Given the description of an element on the screen output the (x, y) to click on. 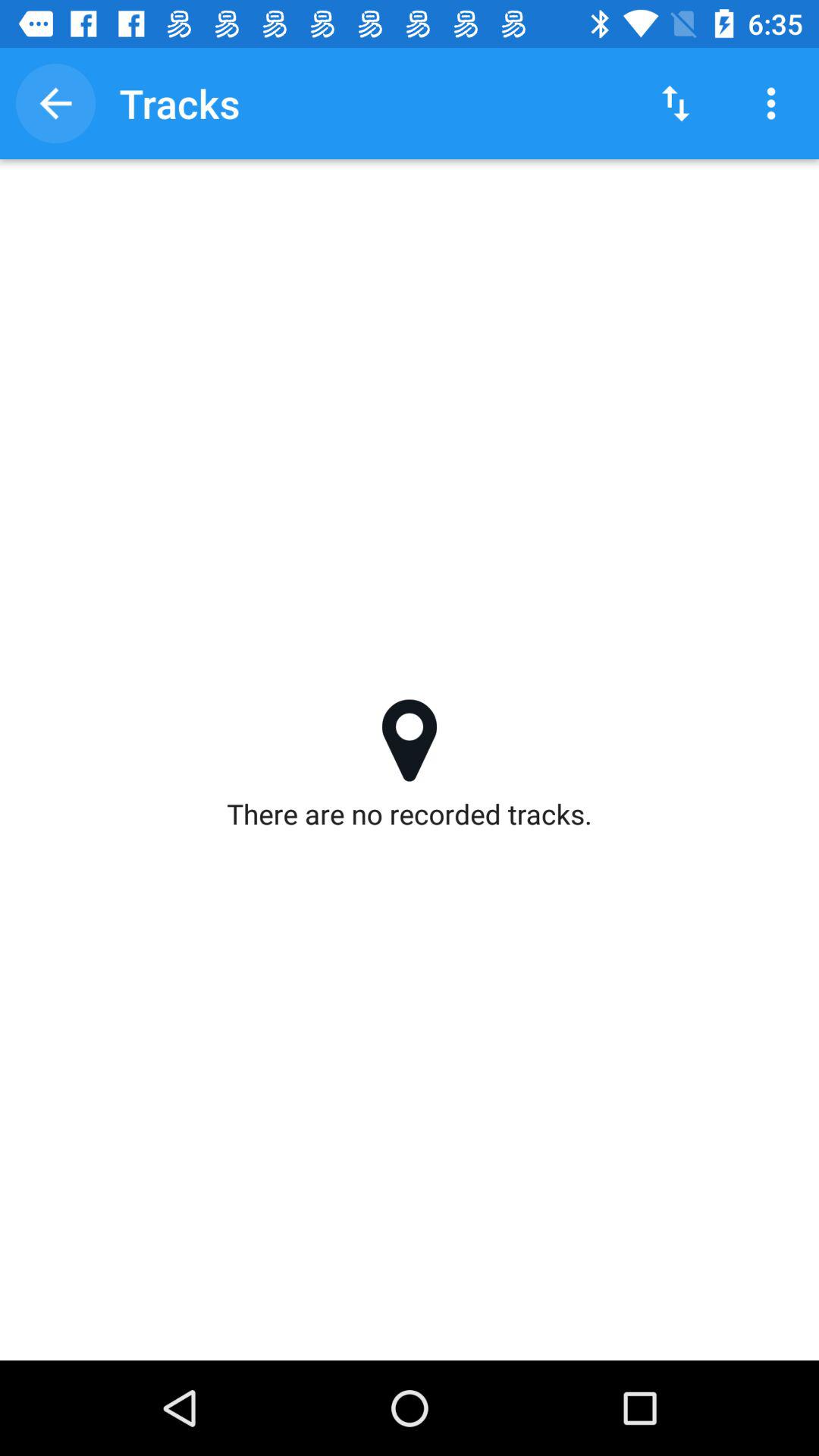
click item to the left of the tracks app (55, 103)
